Given the description of an element on the screen output the (x, y) to click on. 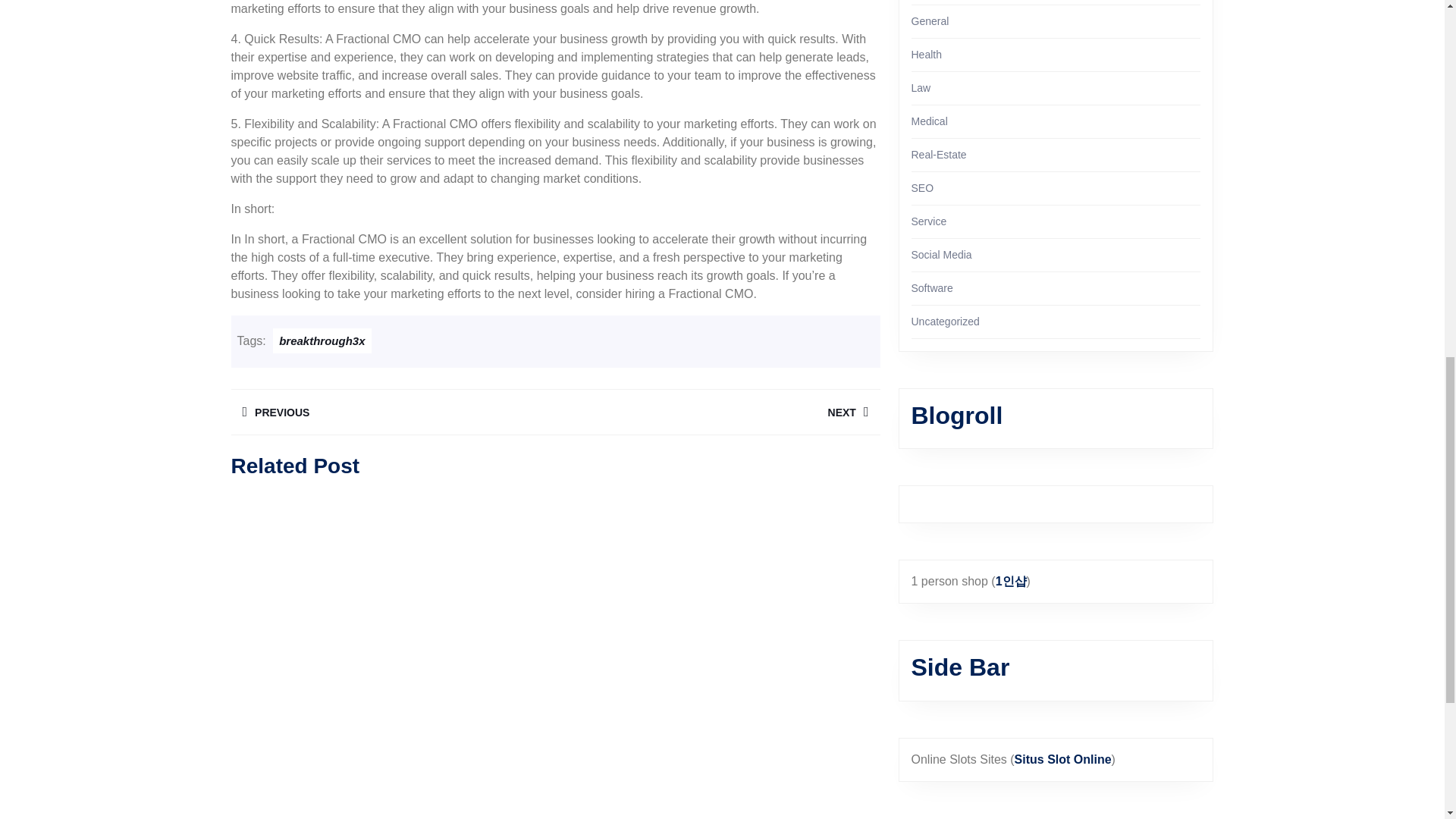
breakthrough3x (392, 411)
